Given the description of an element on the screen output the (x, y) to click on. 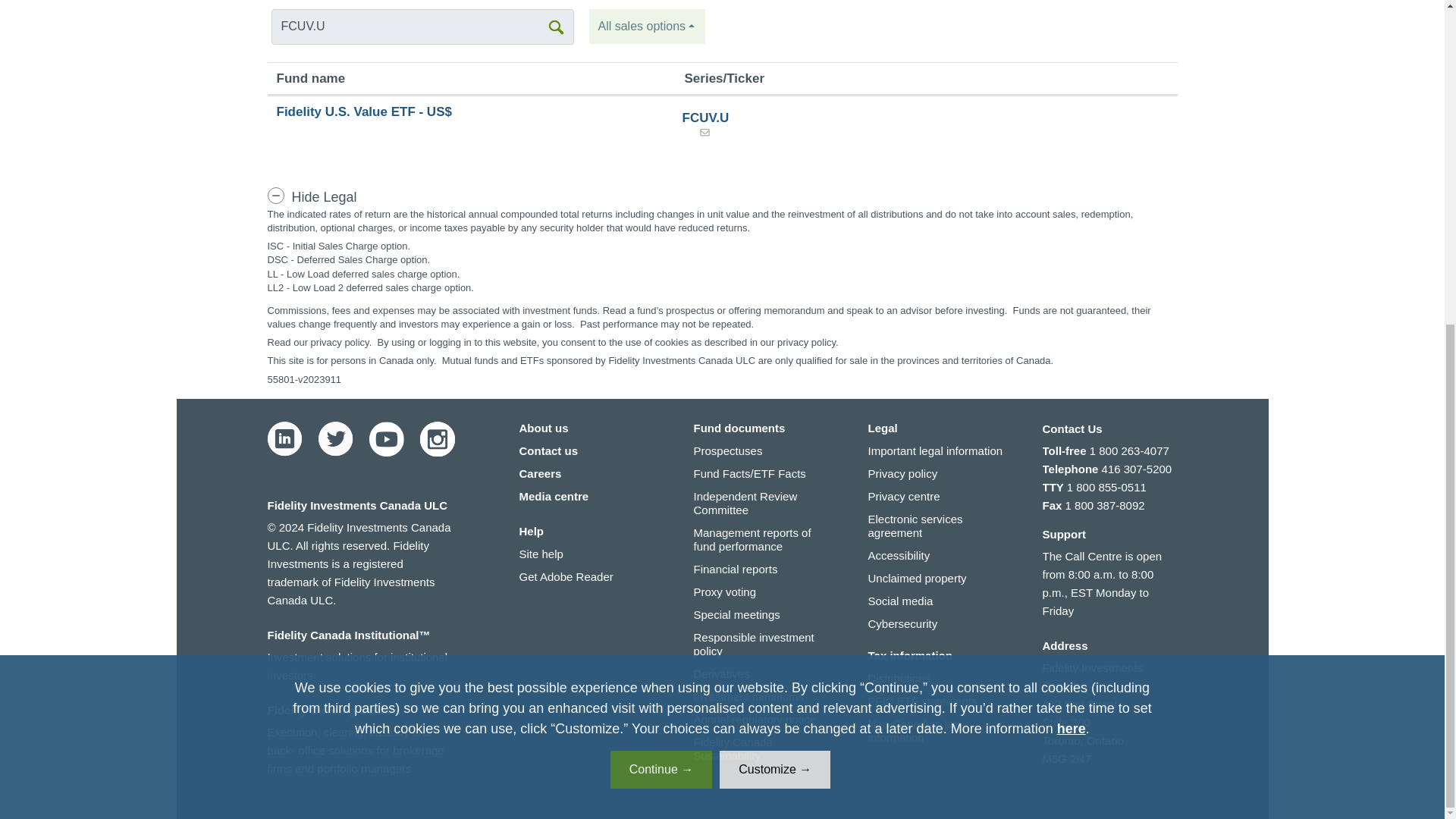
FCUV.U (422, 27)
Fidelity Canada LinkedIn corporate page (283, 438)
FCUV.U (422, 27)
Fidelity Canada YouTube page (385, 438)
Fidelity Canada Twitter account (335, 438)
Fidelity Canada Instagram account (437, 438)
All sales options (646, 26)
Fund name, Fund code, Ticker (422, 27)
